Given the description of an element on the screen output the (x, y) to click on. 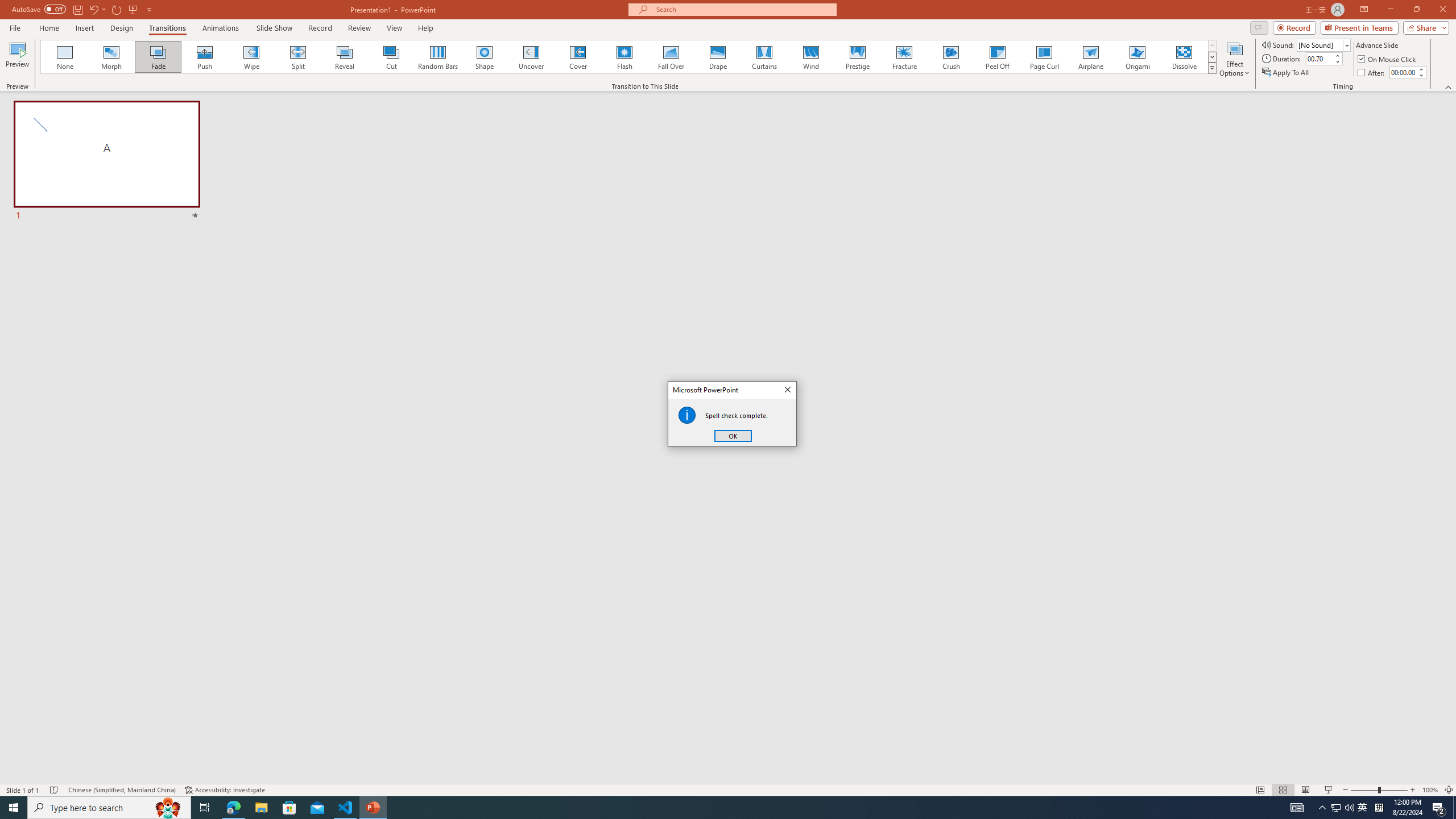
Transition Effects (1212, 67)
OK (732, 435)
On Mouse Click (1387, 58)
